Given the description of an element on the screen output the (x, y) to click on. 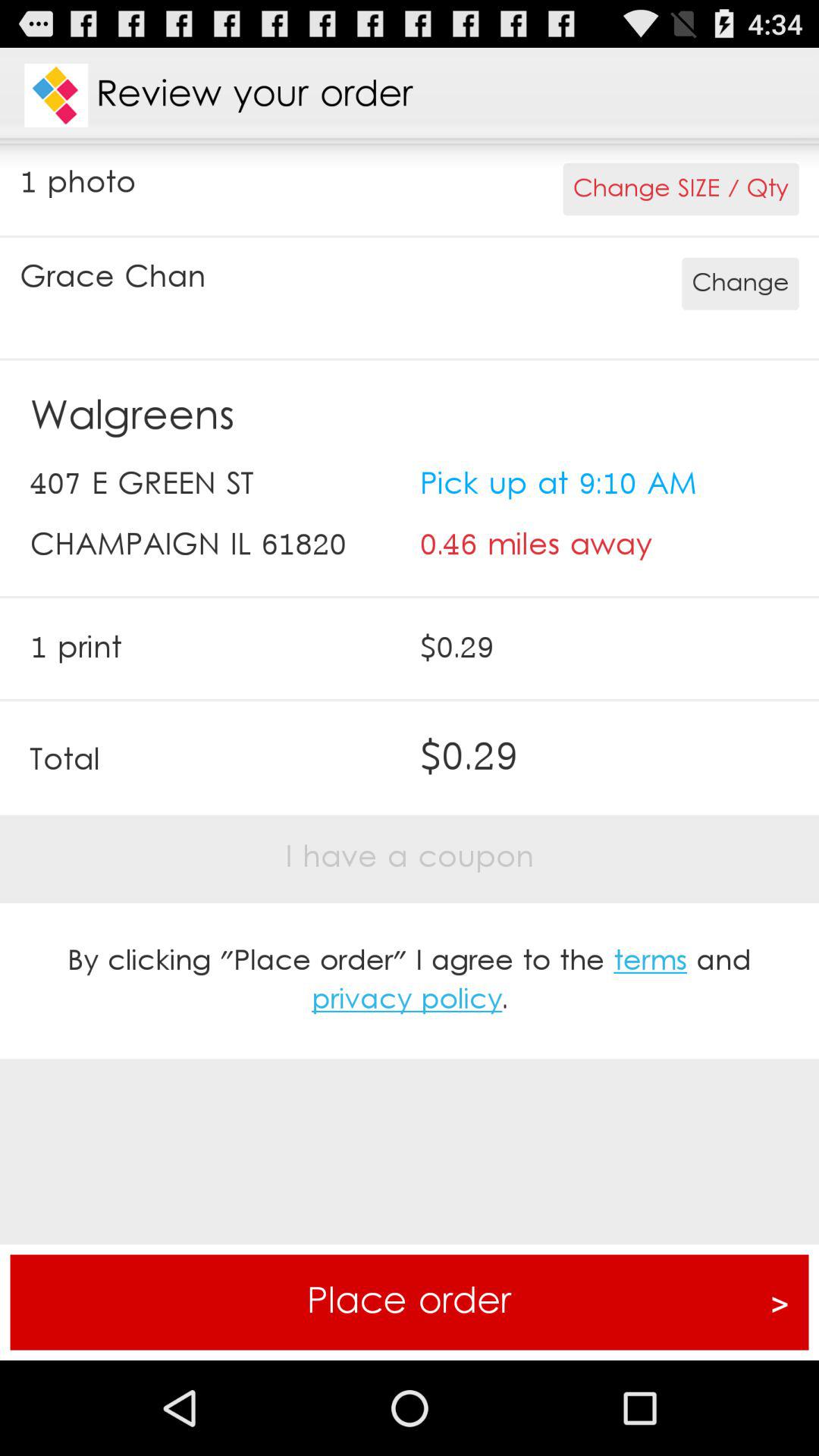
choose the i have a item (409, 857)
